Given the description of an element on the screen output the (x, y) to click on. 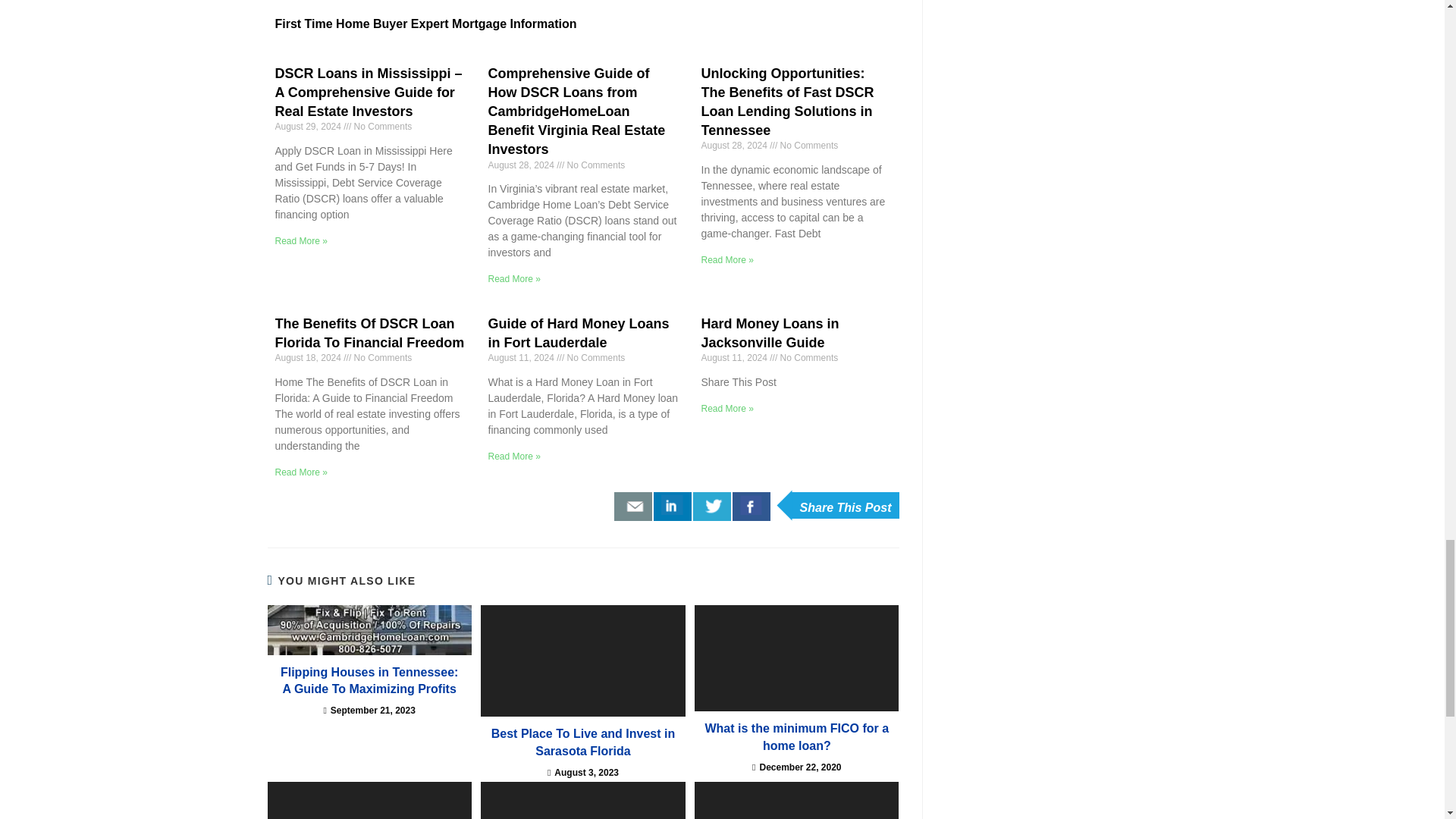
Share On Linkedin (672, 506)
Share On Twitter (711, 506)
Share On Facebook (751, 506)
What is the minimum FICO for a home loan? (796, 658)
Share This Post (844, 505)
Best Mortgage Rates Tampa Florida (368, 800)
How to Get The Best Mortgage Rates In Florida (796, 800)
Manufactured and Modular Home Loans (582, 800)
Contact us (633, 506)
Best Place To Live and Invest in Sarasota Florida (582, 660)
